Given the description of an element on the screen output the (x, y) to click on. 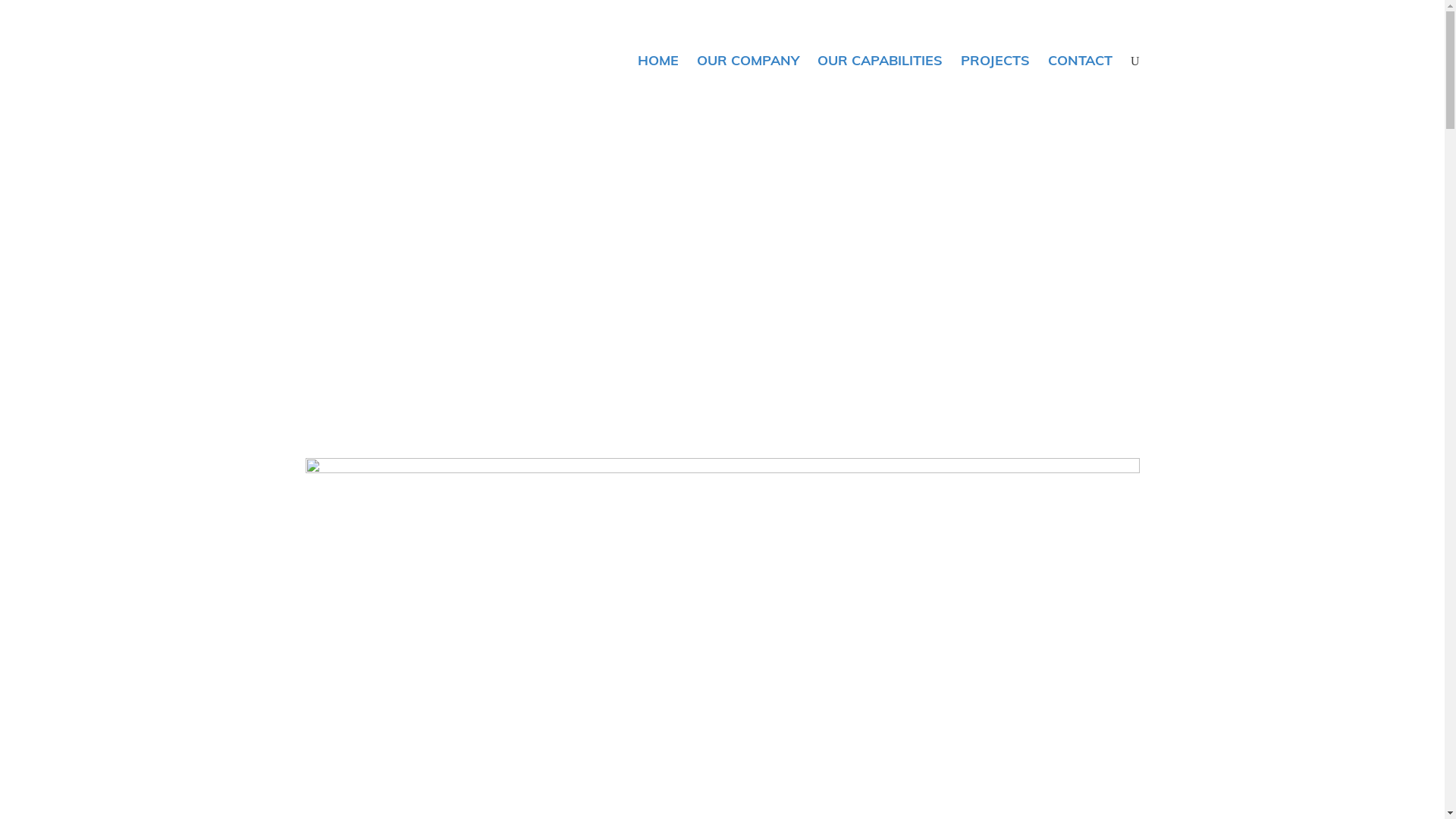
PROJECTS Element type: text (994, 60)
OUR COMPANY Element type: text (747, 60)
OUR CAPABILITIES Element type: text (879, 60)
HOME Element type: text (657, 60)
CONTACT Element type: text (1079, 60)
